Given the description of an element on the screen output the (x, y) to click on. 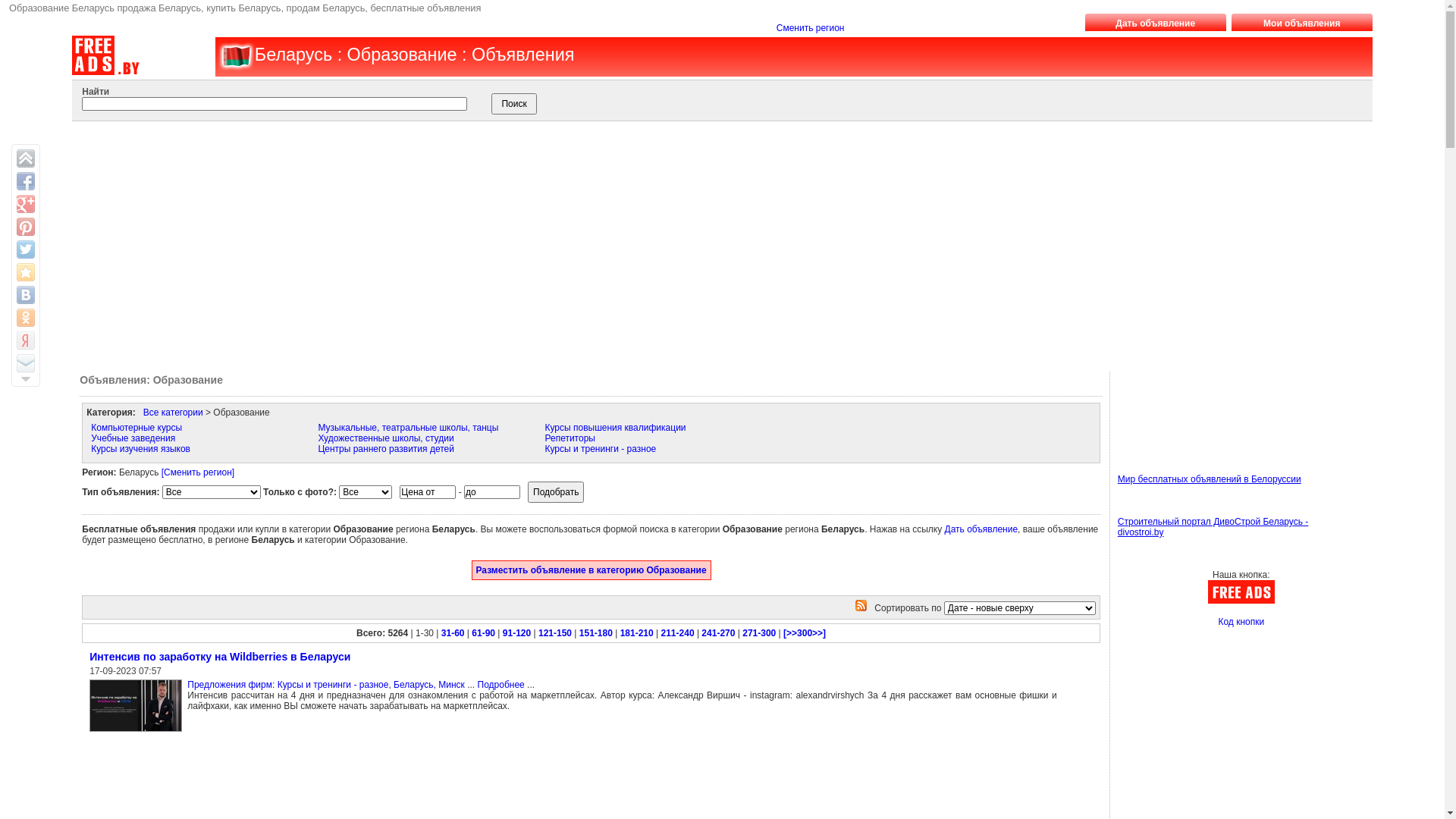
241-270 Element type: text (717, 632)
271-300 Element type: text (758, 632)
[>>300>>] Element type: text (804, 632)
Share on VK Element type: hover (25, 294)
Email this to a friend Element type: hover (25, 363)
61-90 Element type: text (483, 632)
Share on Facebook Element type: hover (25, 181)
Back on top Element type: hover (25, 158)
121-150 Element type: text (554, 632)
freeads.by Element type: hover (234, 55)
Share on Twitter Element type: hover (25, 249)
151-180 Element type: text (595, 632)
Save to Yandex Bookmarks Element type: hover (25, 340)
Pin It Element type: hover (25, 226)
181-210 Element type: text (636, 632)
Share to Odnoklassniki.ru Element type: hover (25, 317)
Advertisement Element type: hover (705, 242)
211-240 Element type: text (677, 632)
Share on Google+ Element type: hover (25, 203)
91-120 Element type: text (516, 632)
31-60 Element type: text (452, 632)
Advertisement Element type: hover (1185, 405)
Save to Browser Favorites Element type: hover (25, 272)
